Given the description of an element on the screen output the (x, y) to click on. 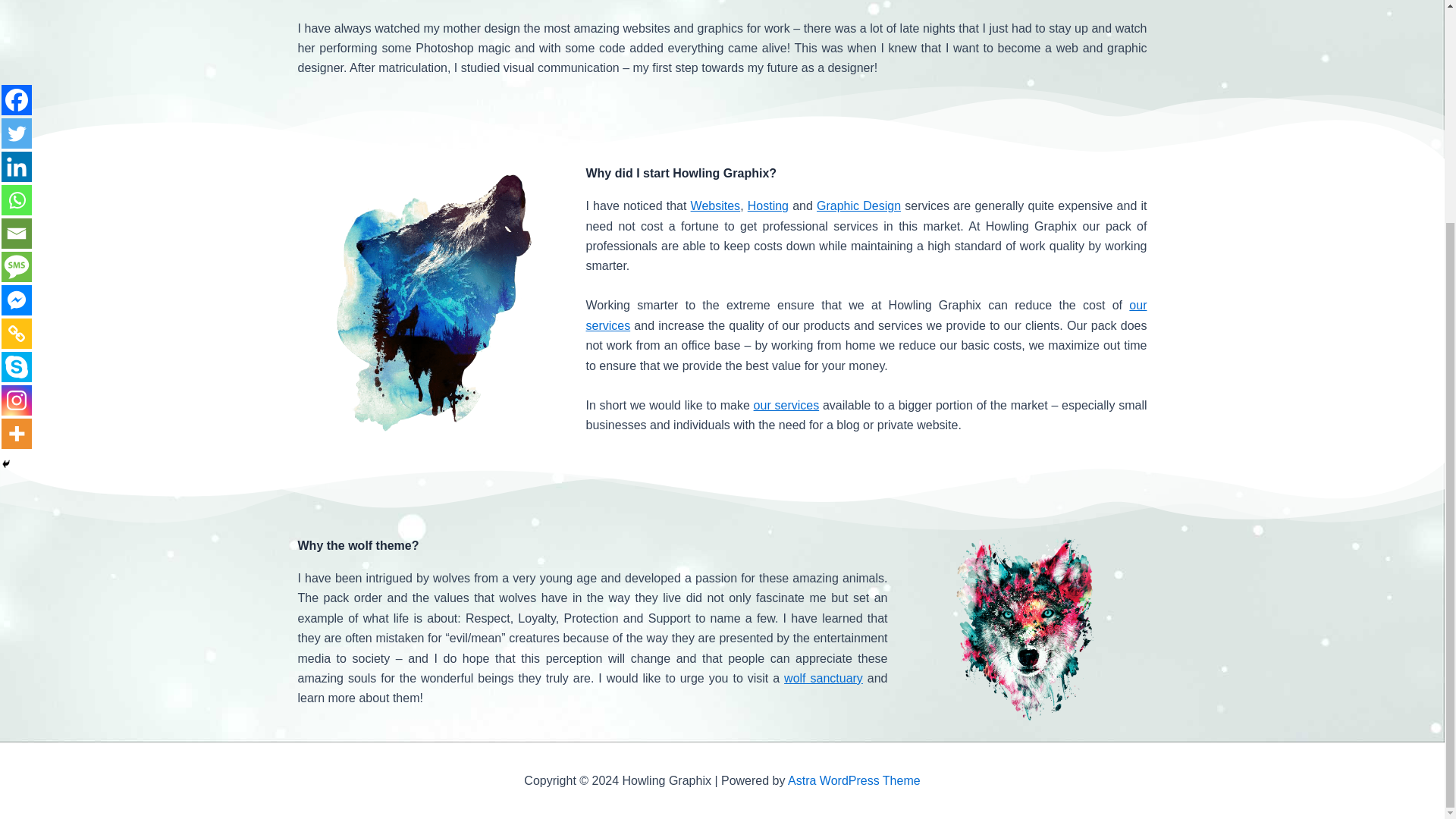
Astra WordPress Theme (853, 780)
Instagram (16, 104)
Skype (16, 71)
Hosting (768, 205)
wolf sanctuary (823, 677)
our services (866, 314)
Graphic Design (858, 205)
Websites (715, 205)
Copy Link (16, 37)
Facebook Messenger (16, 9)
